Given the description of an element on the screen output the (x, y) to click on. 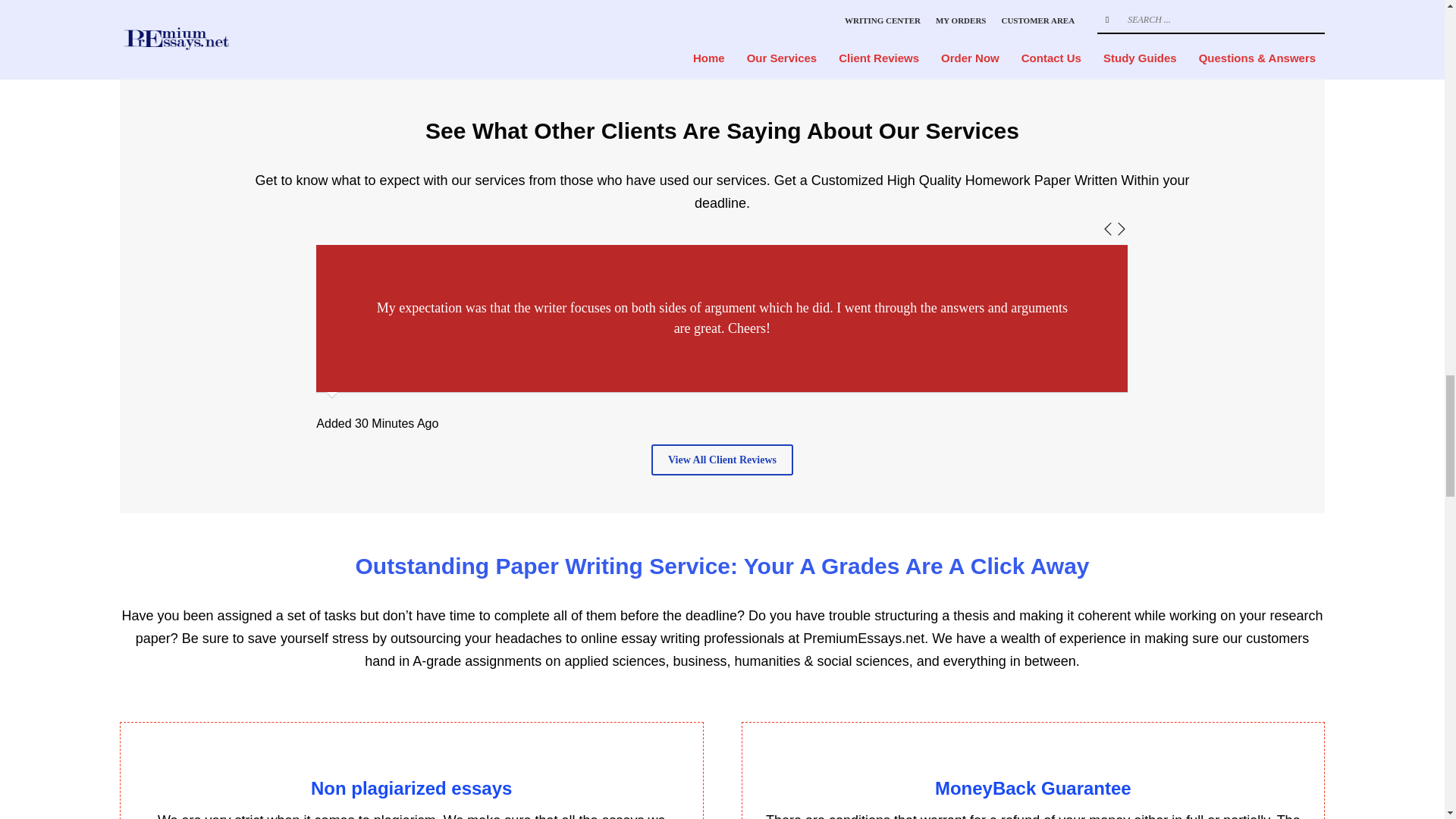
View All Client Reviews (721, 459)
